Given the description of an element on the screen output the (x, y) to click on. 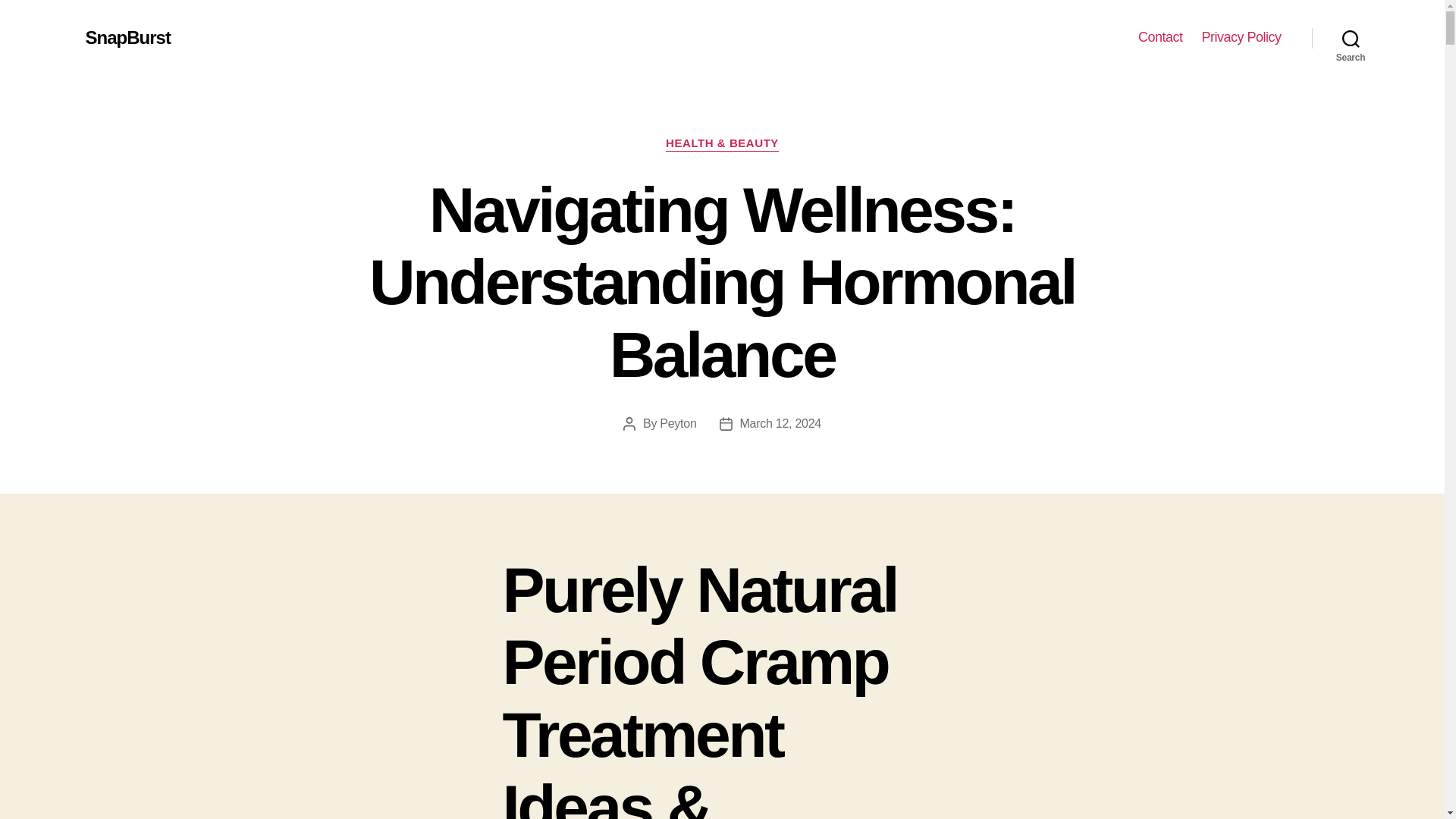
Contact (1160, 37)
Privacy Policy (1241, 37)
Peyton (677, 422)
Search (1350, 37)
SnapBurst (127, 37)
March 12, 2024 (780, 422)
